Given the description of an element on the screen output the (x, y) to click on. 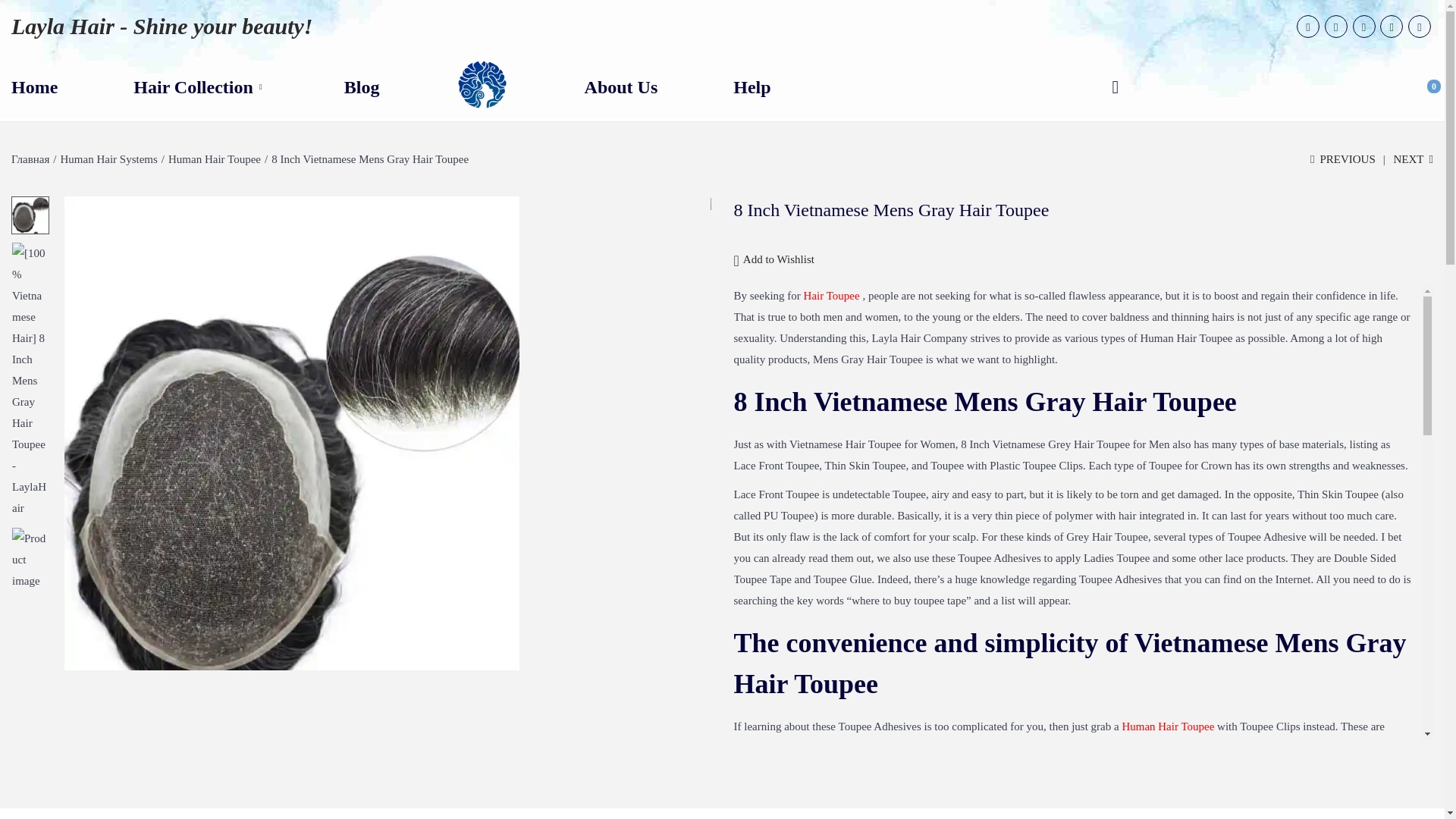
Human Hair Toupee (214, 159)
Layla Hair - Shine your beauty! (162, 25)
Hair Collection (200, 87)
Human Hair Systems (109, 159)
Logo (481, 85)
About Us (621, 87)
